Given the description of an element on the screen output the (x, y) to click on. 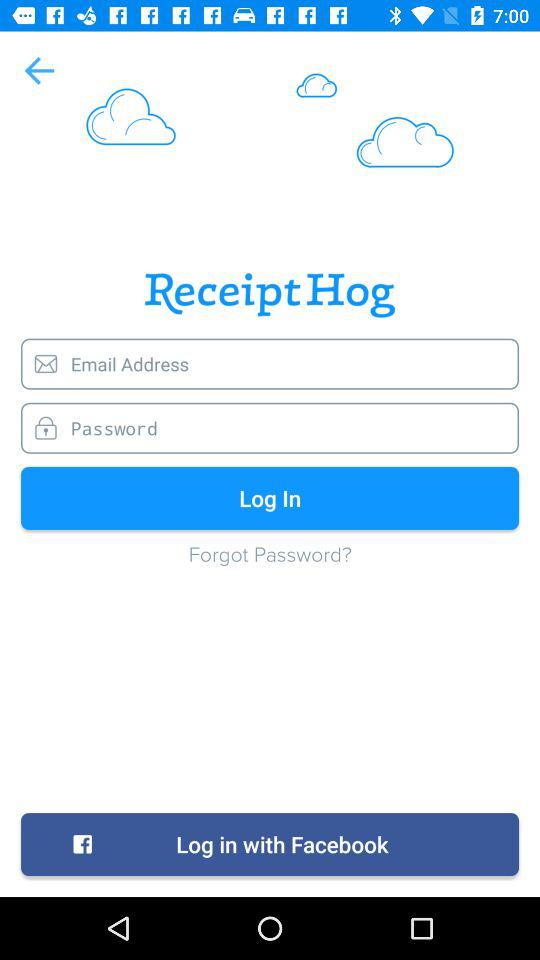
swipe to the forgot password? (270, 563)
